Given the description of an element on the screen output the (x, y) to click on. 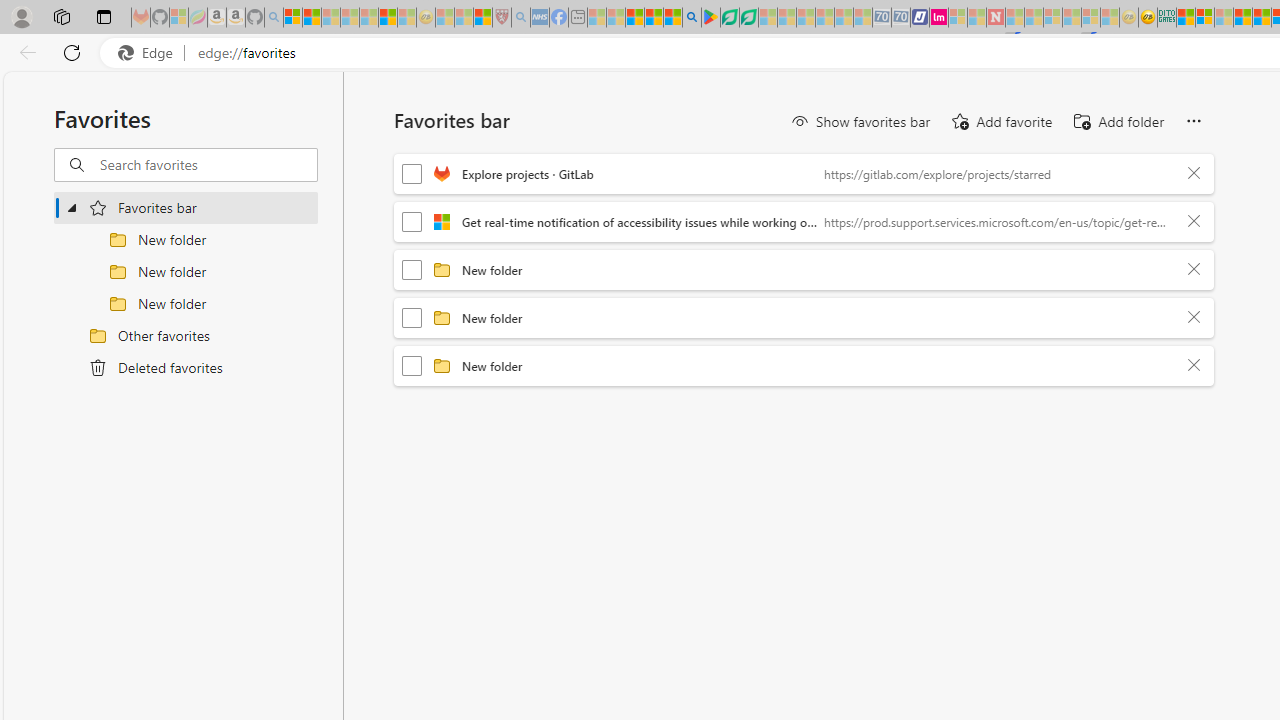
DITOGAMES AG Imprint (1167, 17)
Local - MSN (482, 17)
FolderNew folder (803, 365)
Bluey: Let's Play! - Apps on Google Play (710, 17)
14 Common Myths Debunked By Scientific Facts - Sleeping (1034, 17)
Show favorites bar (859, 121)
New folder (817, 365)
New Report Confirms 2023 Was Record Hot | Watch - Sleeping (368, 17)
Delete (1194, 366)
